Given the description of an element on the screen output the (x, y) to click on. 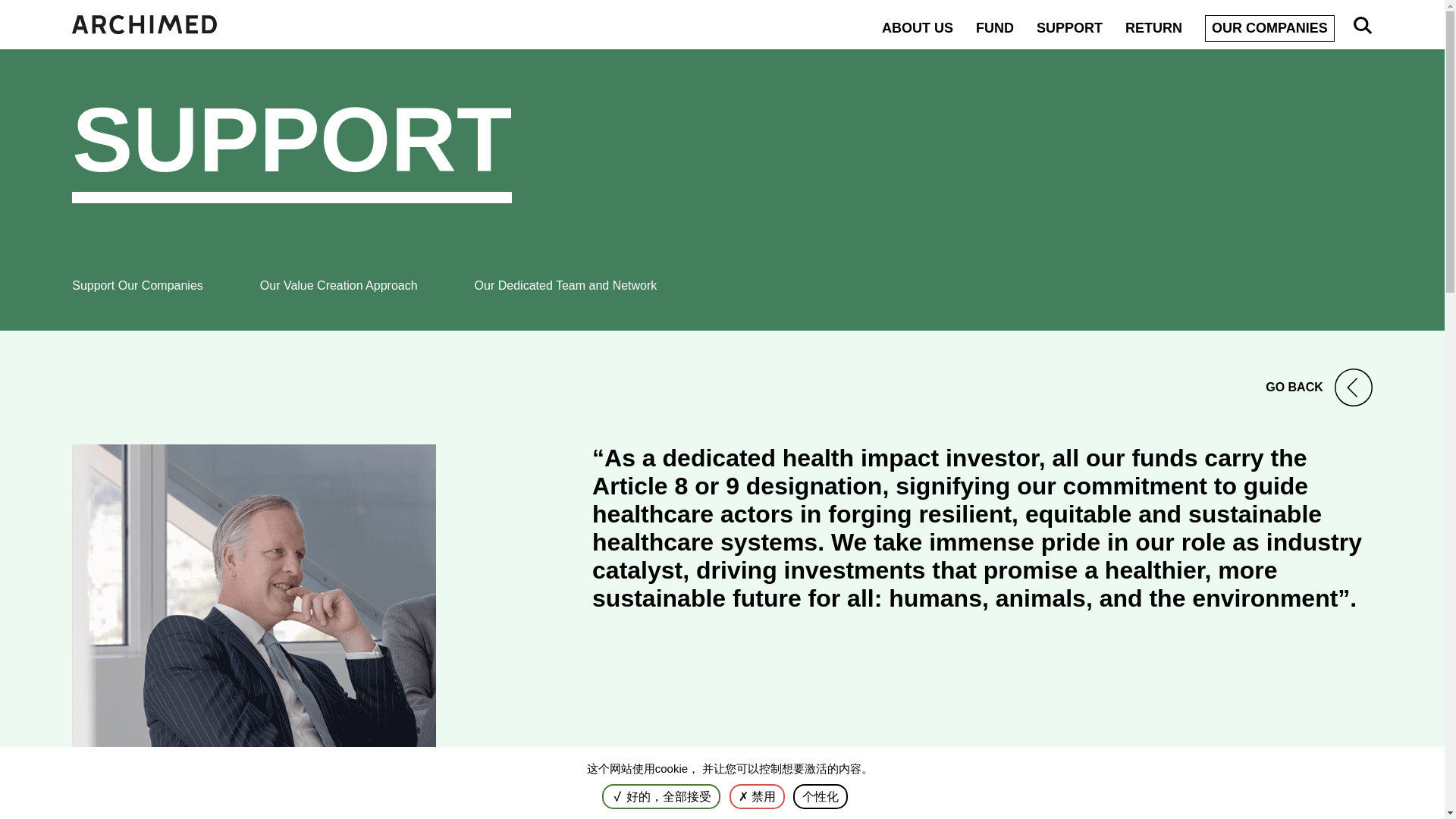
RETURN (1153, 27)
Our Value Creation Approach (338, 285)
SUPPORT (1069, 27)
OUR COMPANIES (1270, 28)
Support Our Companies (137, 285)
ABOUT US (917, 27)
GO BACK (722, 387)
Our Dedicated Team and Network (566, 285)
FUND (994, 27)
